Given the description of an element on the screen output the (x, y) to click on. 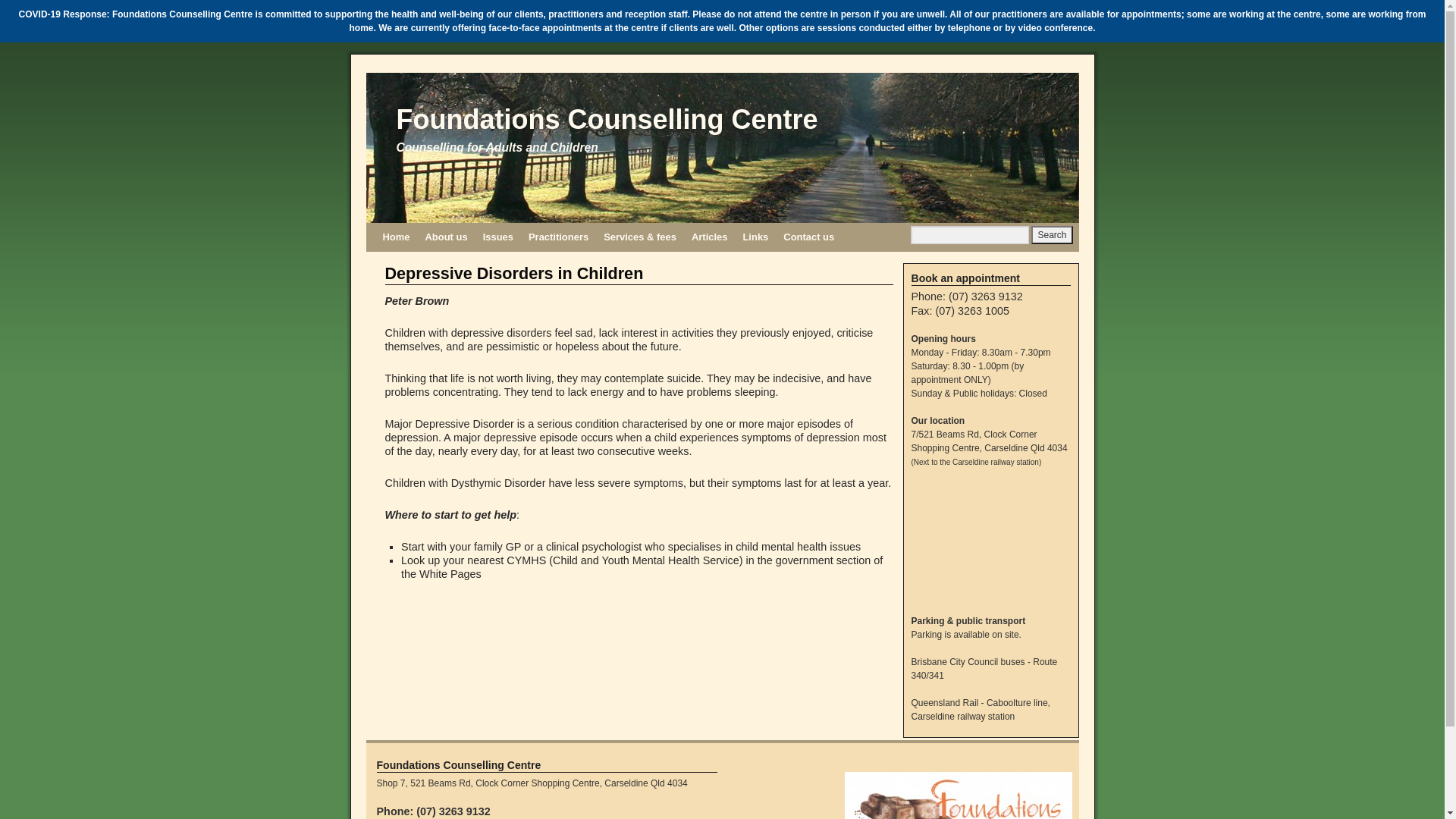
Issues Element type: text (497, 236)
Search Element type: text (1051, 234)
Contact us Element type: text (808, 236)
Articles Element type: text (709, 236)
Practitioners Element type: text (558, 236)
Services & fees Element type: text (640, 236)
Foundations Counselling Centre Element type: text (606, 118)
Home Element type: text (395, 236)
Links Element type: text (754, 236)
About us Element type: text (445, 236)
